Given the description of an element on the screen output the (x, y) to click on. 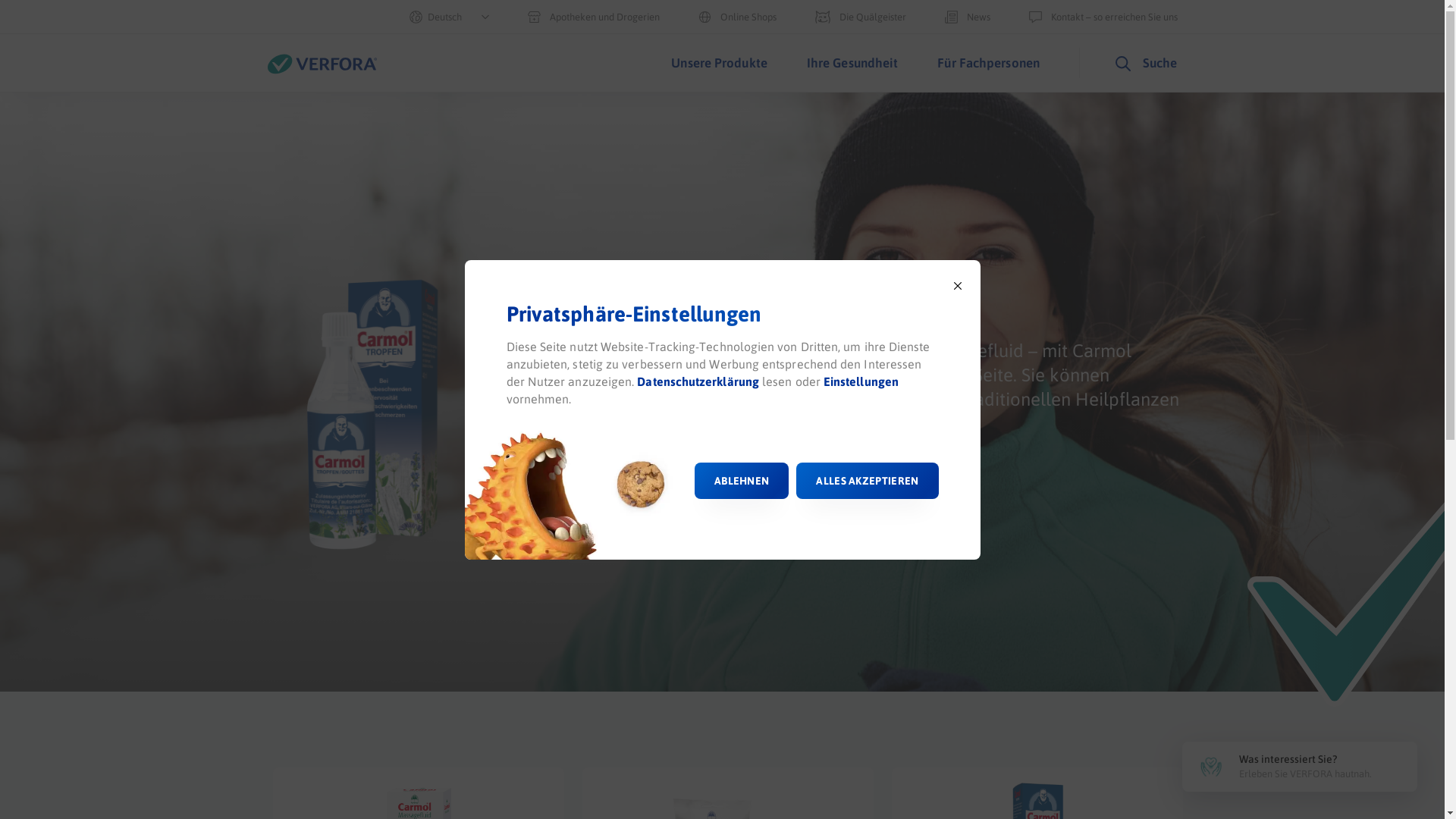
ALLES AKZEPTIEREN Element type: text (867, 480)
Apotheken und Drogerien Element type: text (593, 16)
Online Shops Element type: text (737, 16)
Einstellungen Element type: text (860, 381)
News Element type: text (967, 16)
ABLEHNEN Element type: text (741, 480)
